Given the description of an element on the screen output the (x, y) to click on. 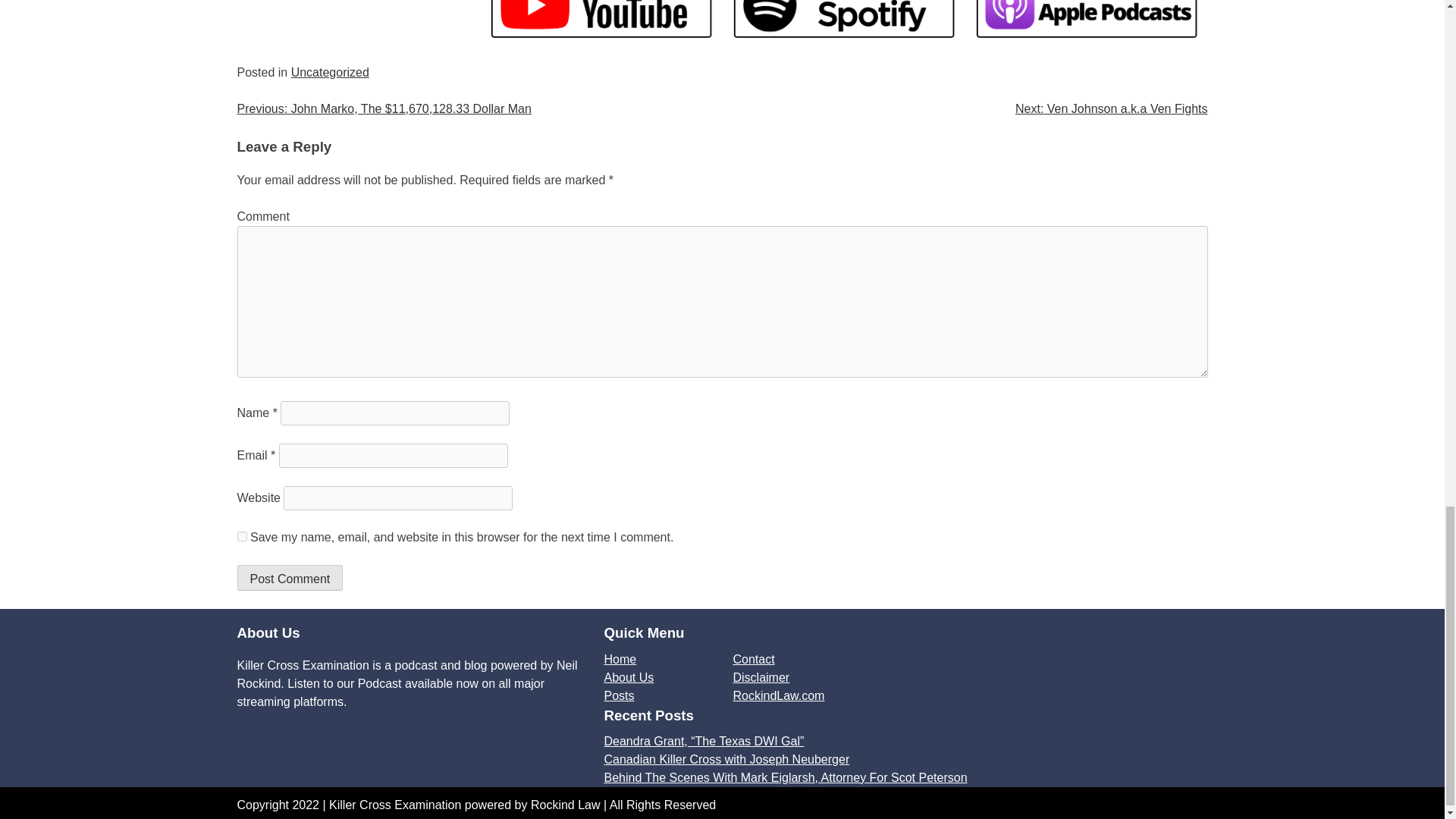
RockindLaw.com (778, 695)
Post Comment (288, 577)
Contact (753, 658)
Next: Ven Johnson a.k.a Ven Fights (1111, 108)
Uncategorized (330, 72)
Posts (618, 695)
Canadian Killer Cross with Joseph Neuberger (726, 758)
About Us (628, 676)
Post Comment (288, 577)
yes (240, 536)
Home (620, 658)
Disclaimer (760, 676)
